Given the description of an element on the screen output the (x, y) to click on. 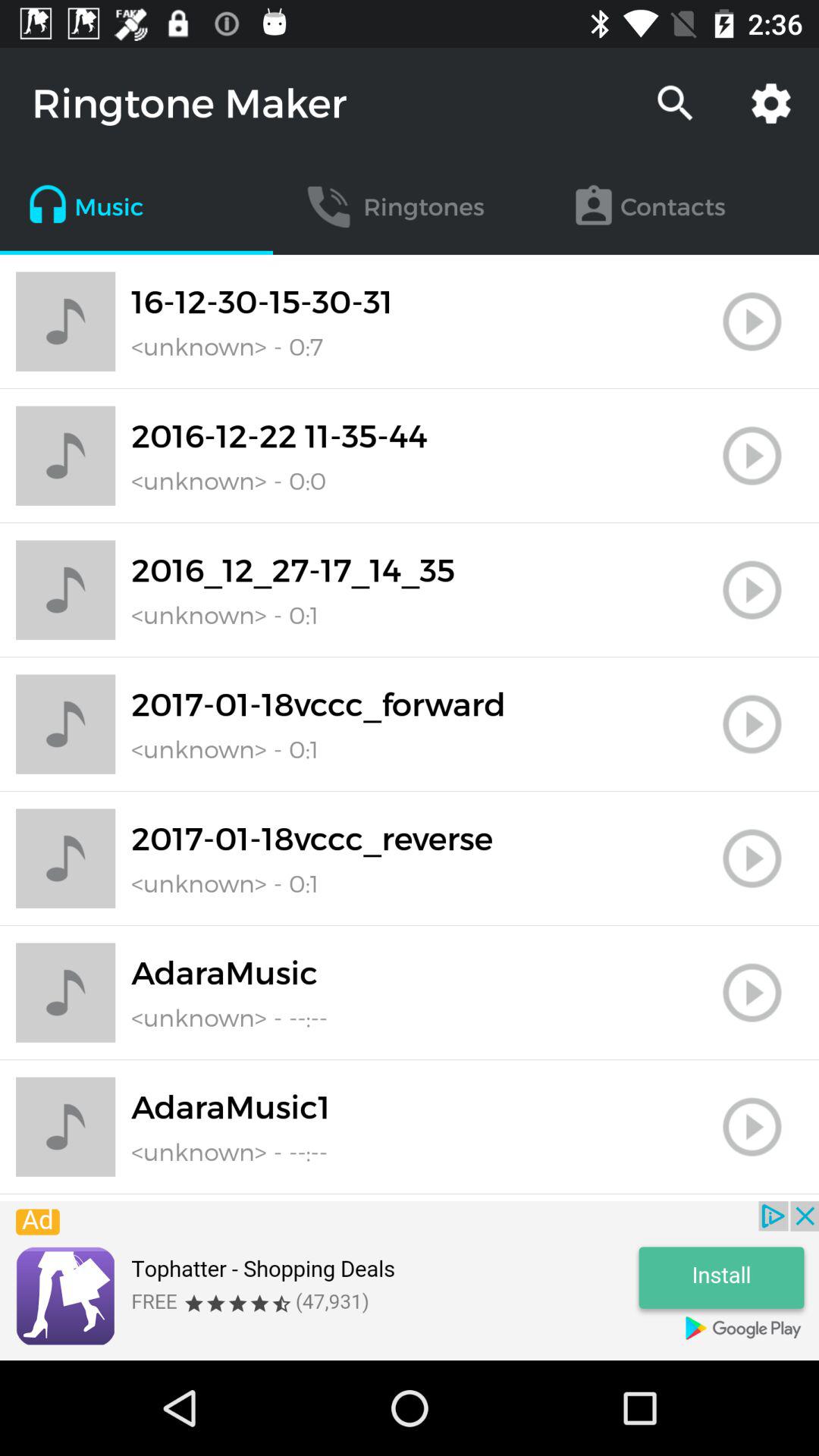
advert banner (409, 1280)
